Given the description of an element on the screen output the (x, y) to click on. 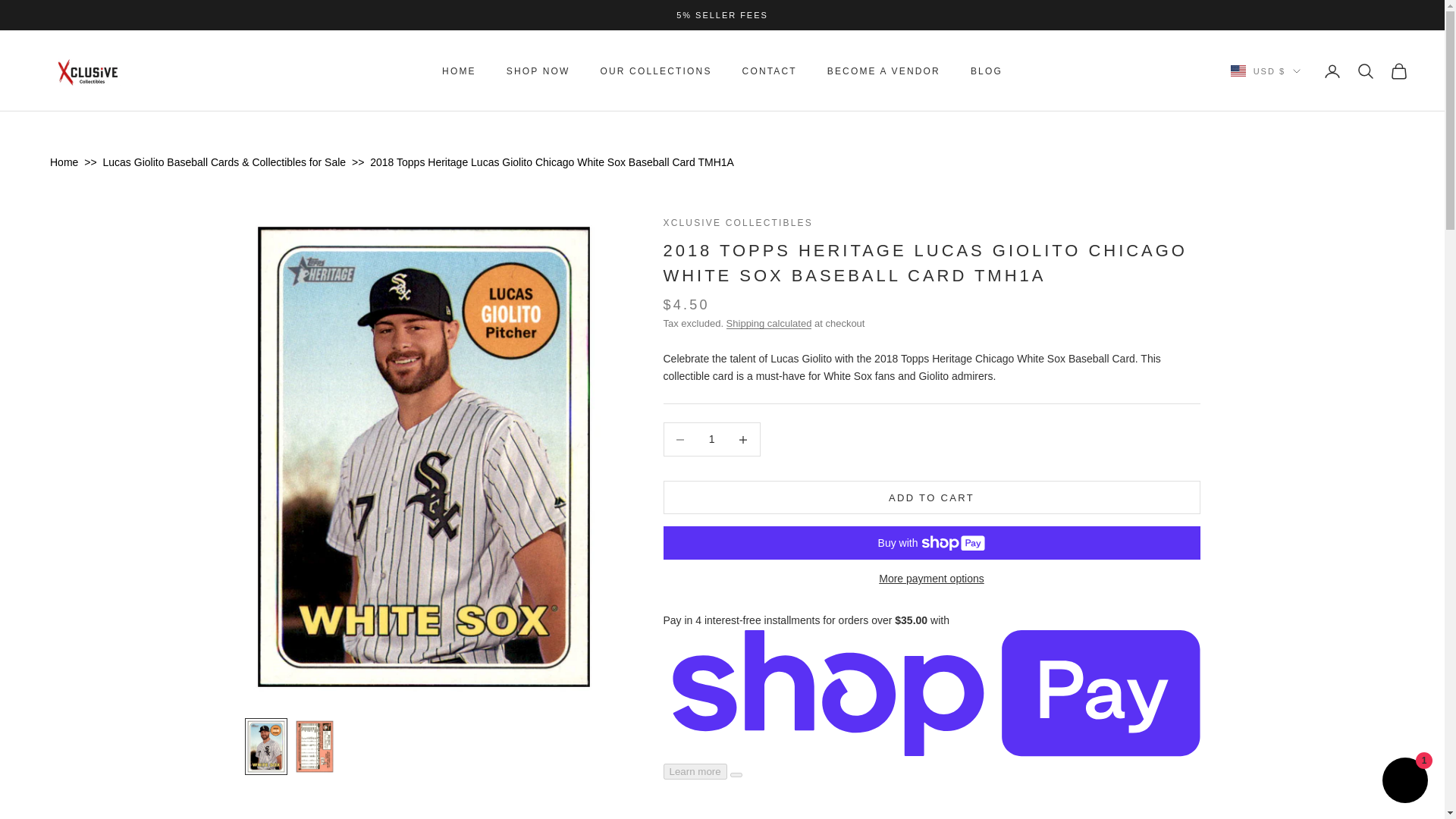
Shopify online store chat (1404, 781)
SHOP NOW (538, 70)
HOME (459, 70)
Xclusive Collectibles (89, 70)
1 (711, 439)
